Given the description of an element on the screen output the (x, y) to click on. 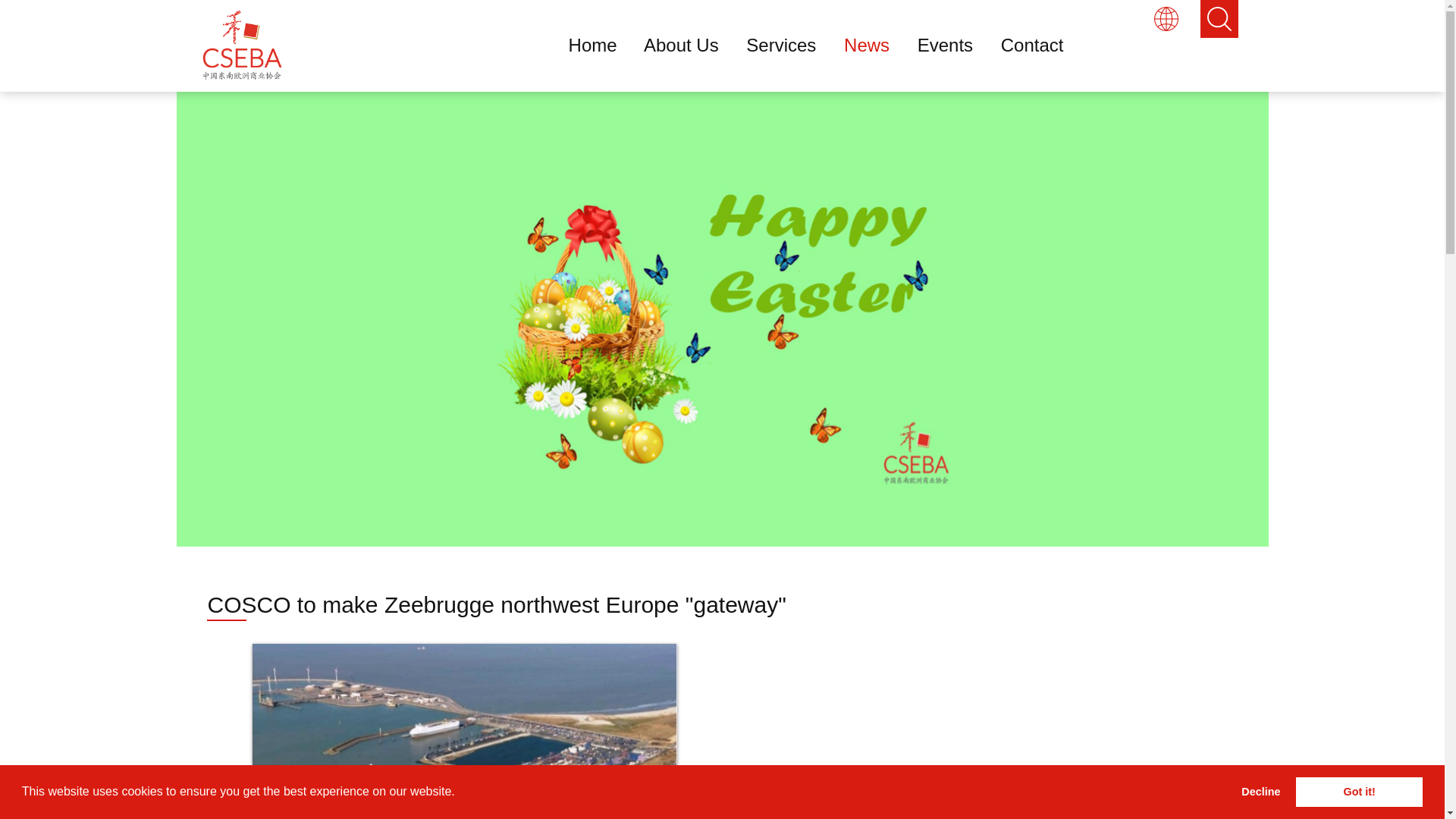
Events (956, 45)
About Us (692, 45)
Got it! (1358, 791)
Services (791, 45)
Decline (1260, 791)
News (878, 45)
Home (604, 45)
Contact (1043, 45)
